Given the description of an element on the screen output the (x, y) to click on. 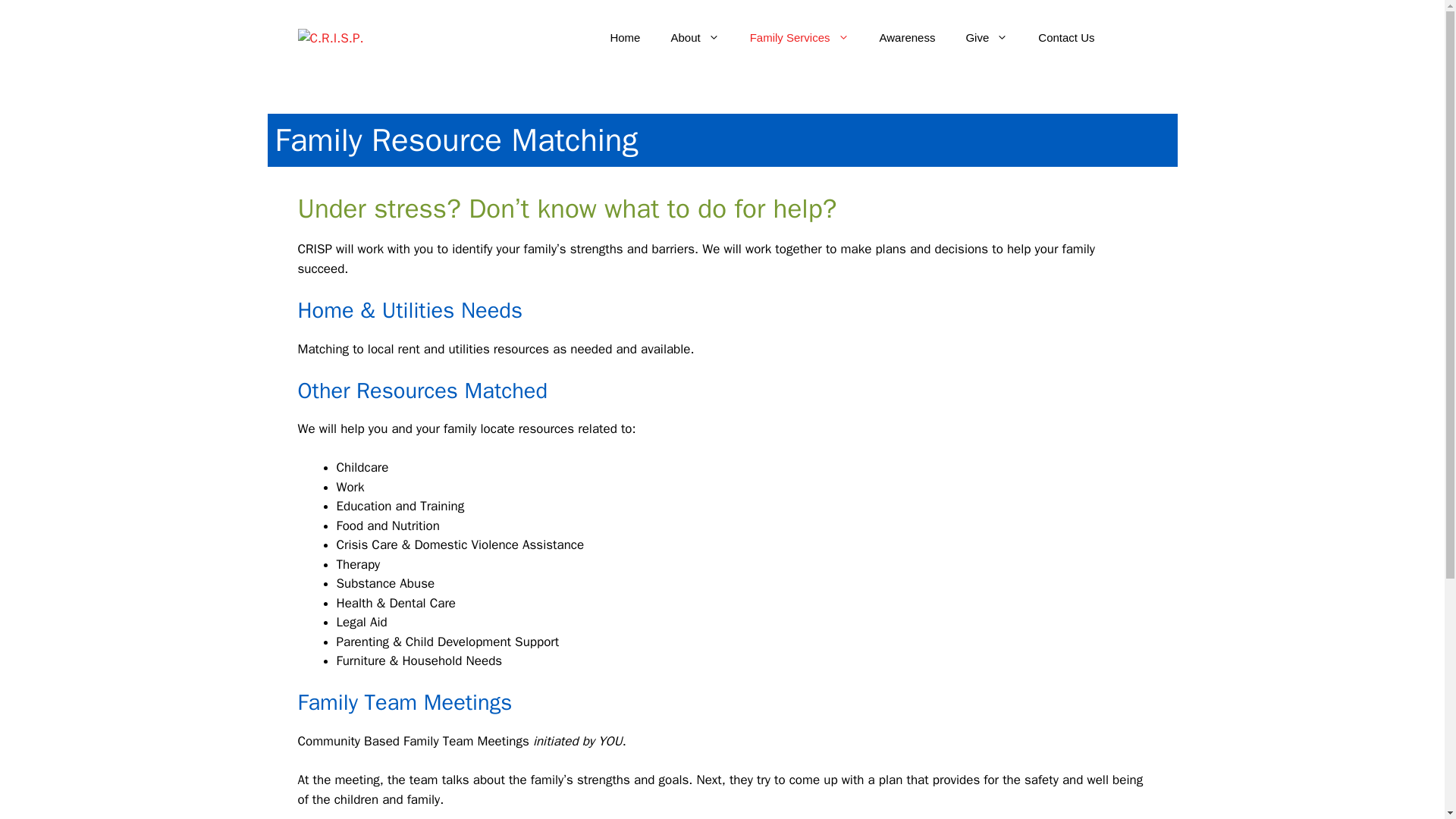
Contact C.R.I.S.P. (1066, 37)
Awareness (907, 37)
Give (986, 37)
About (694, 37)
Family Services (799, 37)
Contact Us (1066, 37)
Home (624, 37)
